Given the description of an element on the screen output the (x, y) to click on. 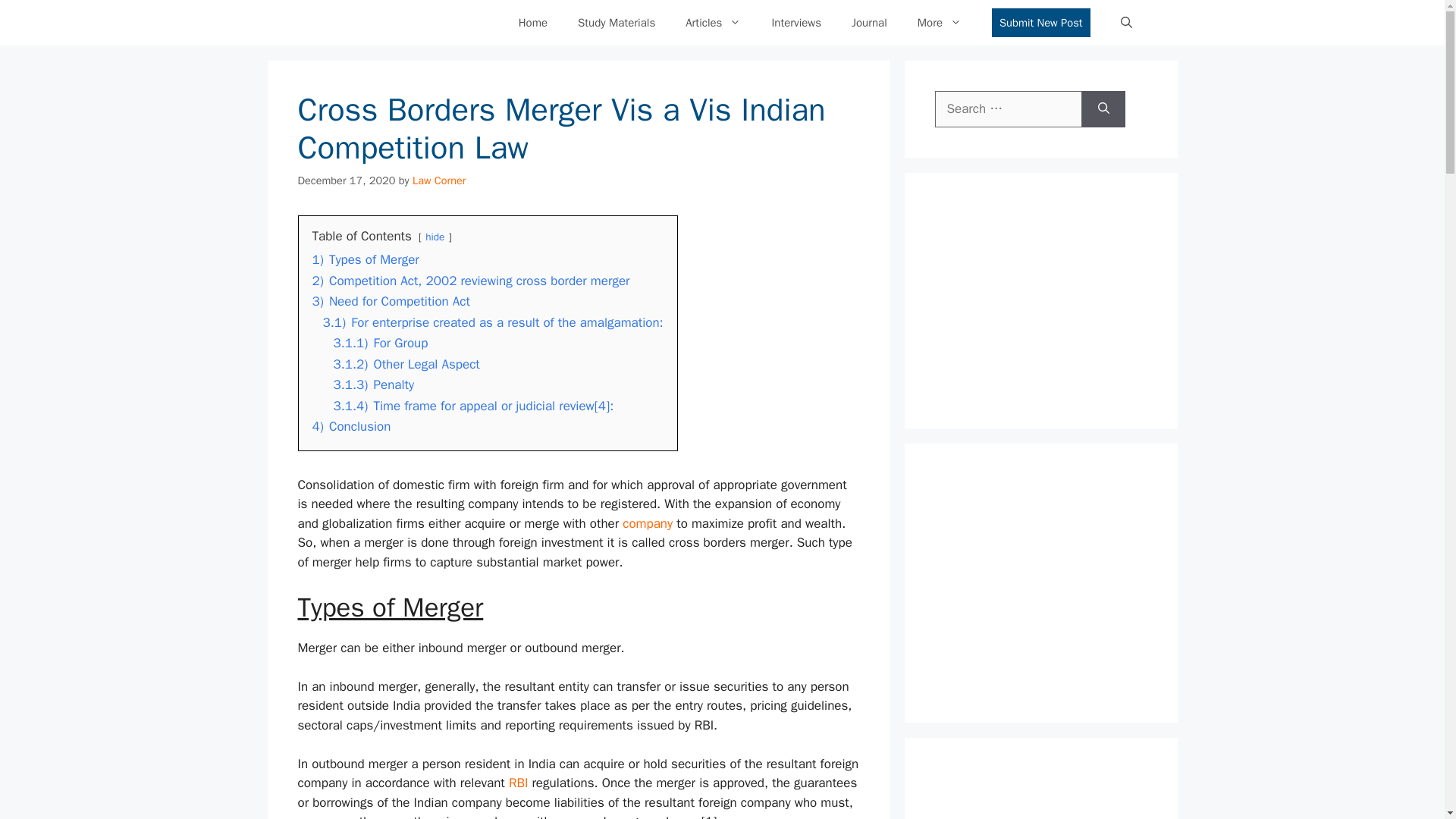
Articles (712, 22)
Journal (868, 22)
Interviews (795, 22)
hide (434, 236)
Study Materials (615, 22)
Submit New Post (1040, 22)
Home (532, 22)
View all posts by Law Corner (438, 180)
Law Corner (438, 180)
Search for: (1007, 108)
More (939, 22)
